Given the description of an element on the screen output the (x, y) to click on. 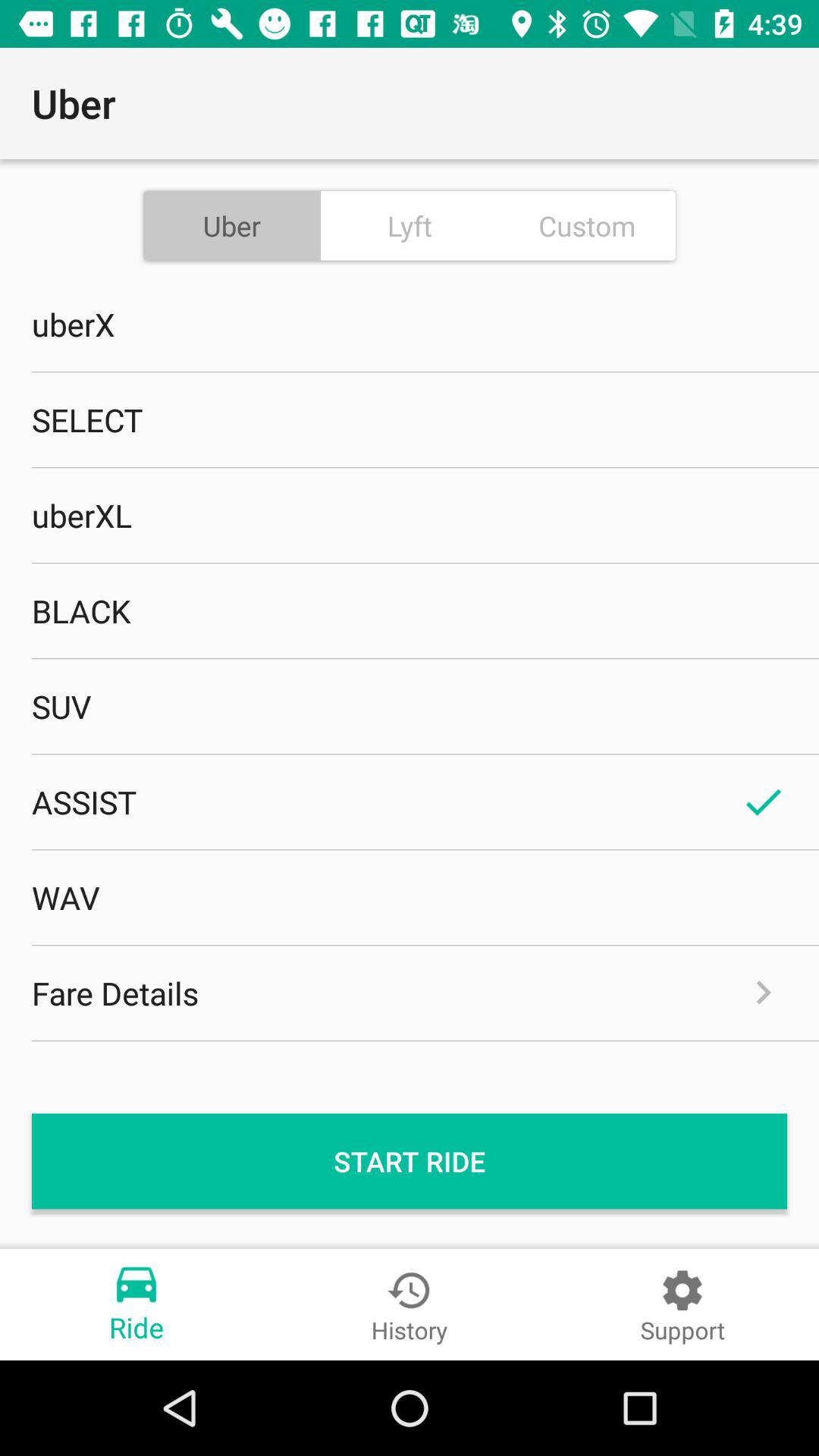
open the item above the fare details (409, 897)
